Given the description of an element on the screen output the (x, y) to click on. 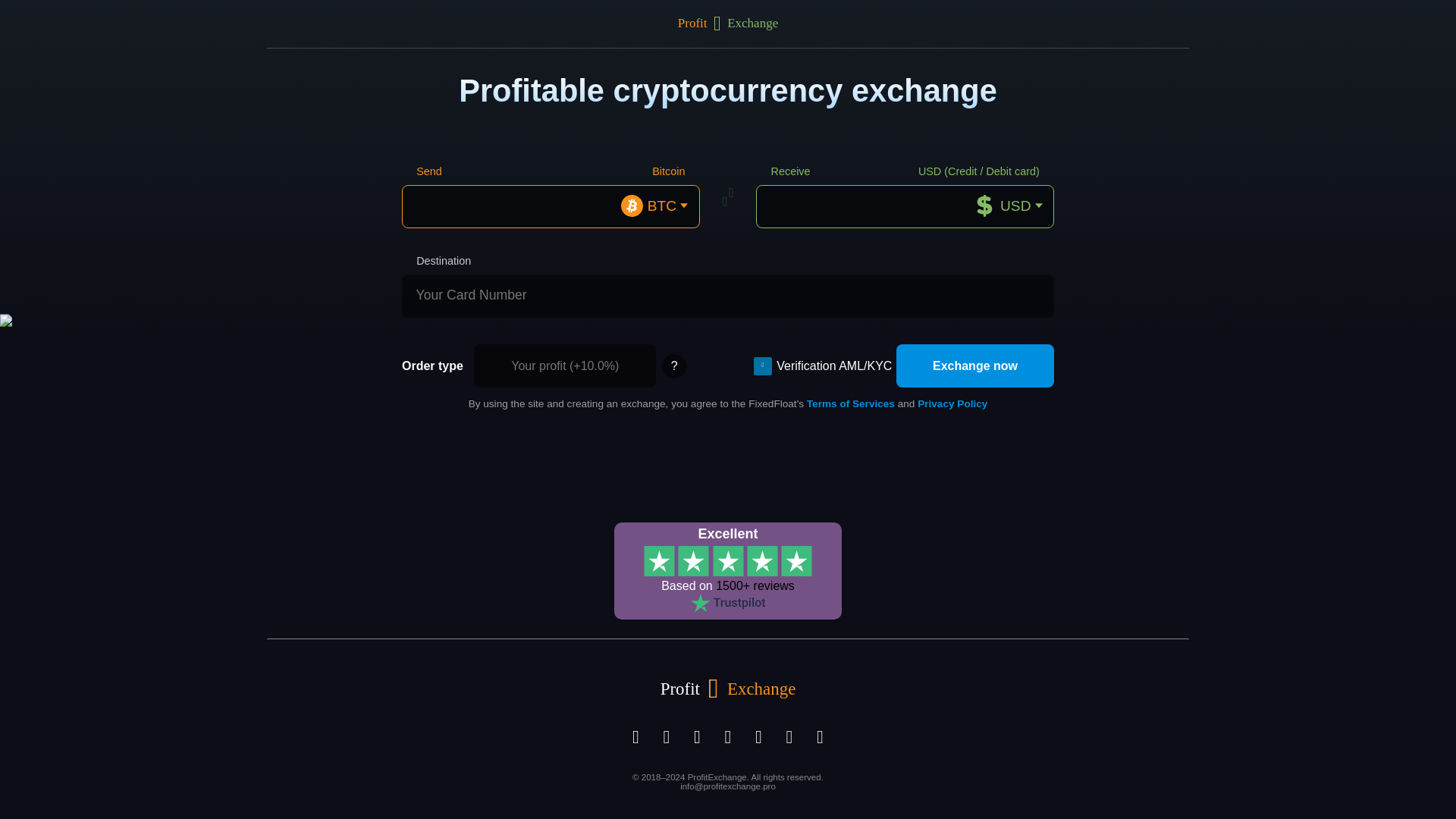
trustpilot.com (820, 737)
Privacy Policy (952, 403)
bestchange.com (789, 737)
Telegram (697, 737)
Terms of Services (850, 403)
instagram.com (666, 737)
Reddit (728, 737)
Exchange now (975, 365)
Twitter (635, 737)
medium.com (758, 737)
